Given the description of an element on the screen output the (x, y) to click on. 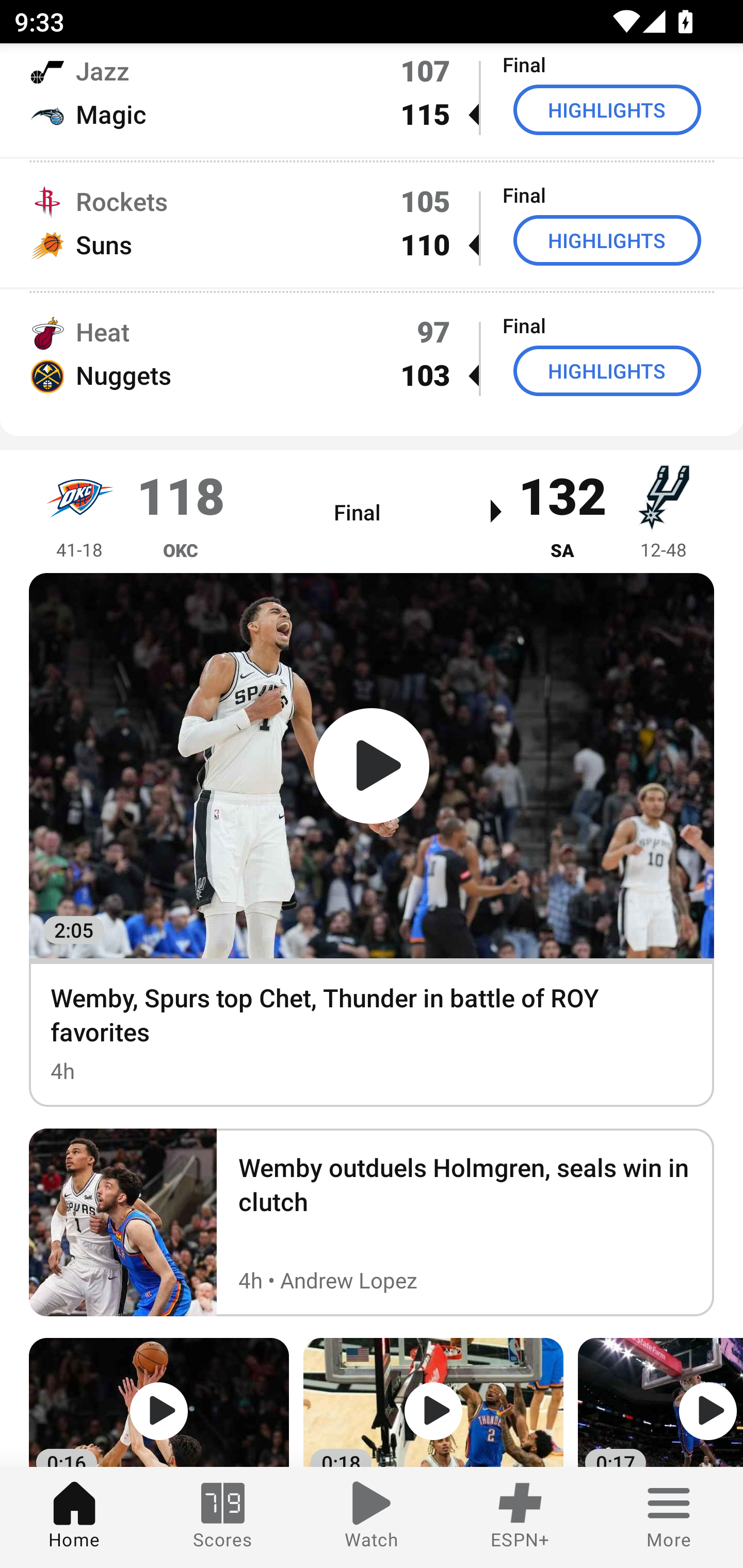
Jazz 107 Final Magic 115  HIGHLIGHTS (371, 99)
HIGHLIGHTS (607, 109)
Rockets 105 Final Suns 110  HIGHLIGHTS (371, 222)
HIGHLIGHTS (607, 239)
Heat 97 Final Nuggets 103  HIGHLIGHTS (371, 353)
HIGHLIGHTS (607, 370)
 0:16 (158, 1402)
 0:18 (433, 1402)
 0:17 (660, 1402)
Scores (222, 1517)
Watch (371, 1517)
ESPN+ (519, 1517)
More (668, 1517)
